Given the description of an element on the screen output the (x, y) to click on. 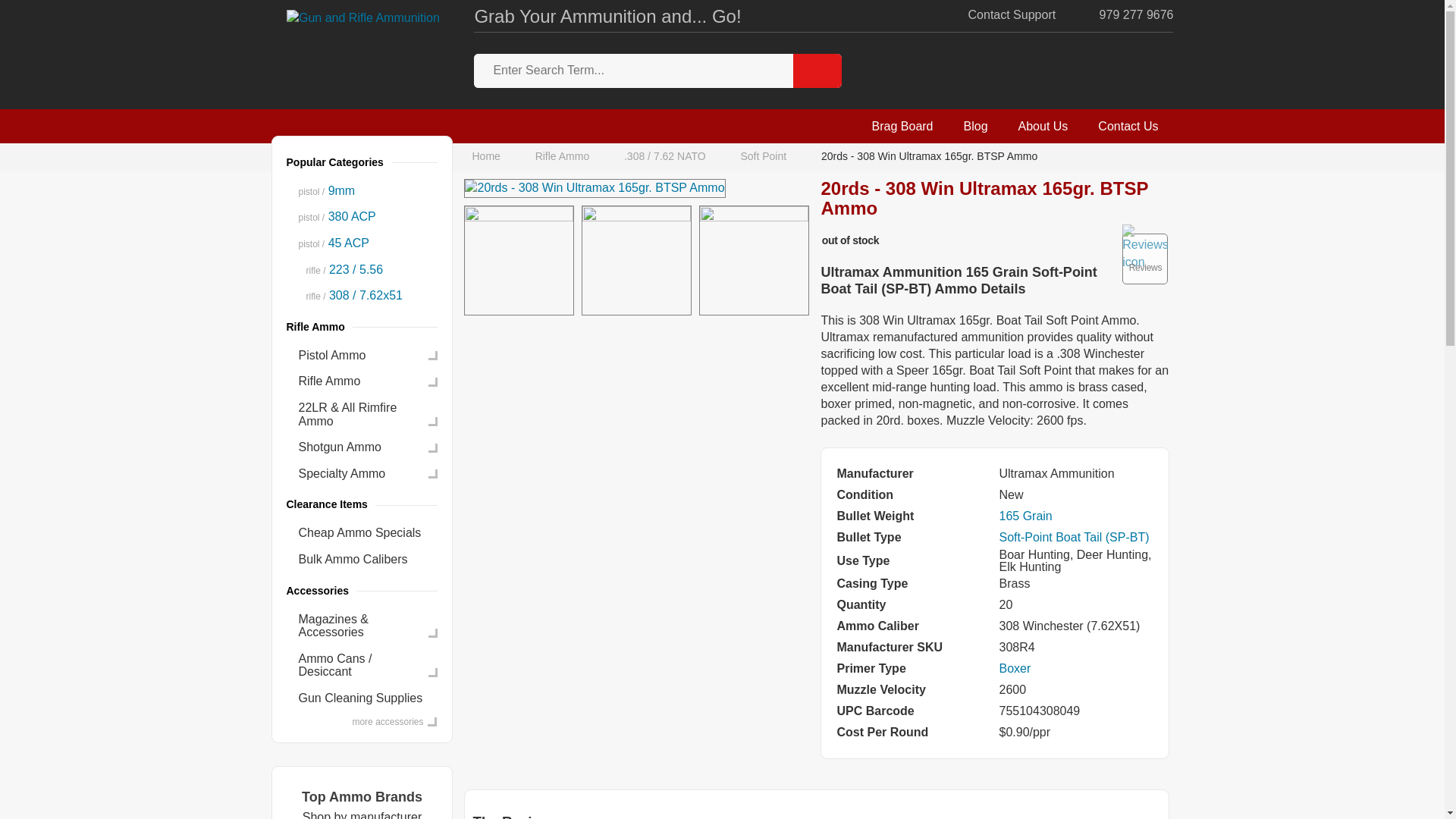
Search (817, 70)
Contact Us (1128, 125)
Reviews (1144, 258)
About Us (1043, 125)
Go to Home Page (488, 157)
165 Grain (1024, 515)
What's the difference between boxer and berden primers? (1014, 667)
Home (488, 157)
Soft Point (762, 157)
what is grains in ammo? (1024, 515)
